Given the description of an element on the screen output the (x, y) to click on. 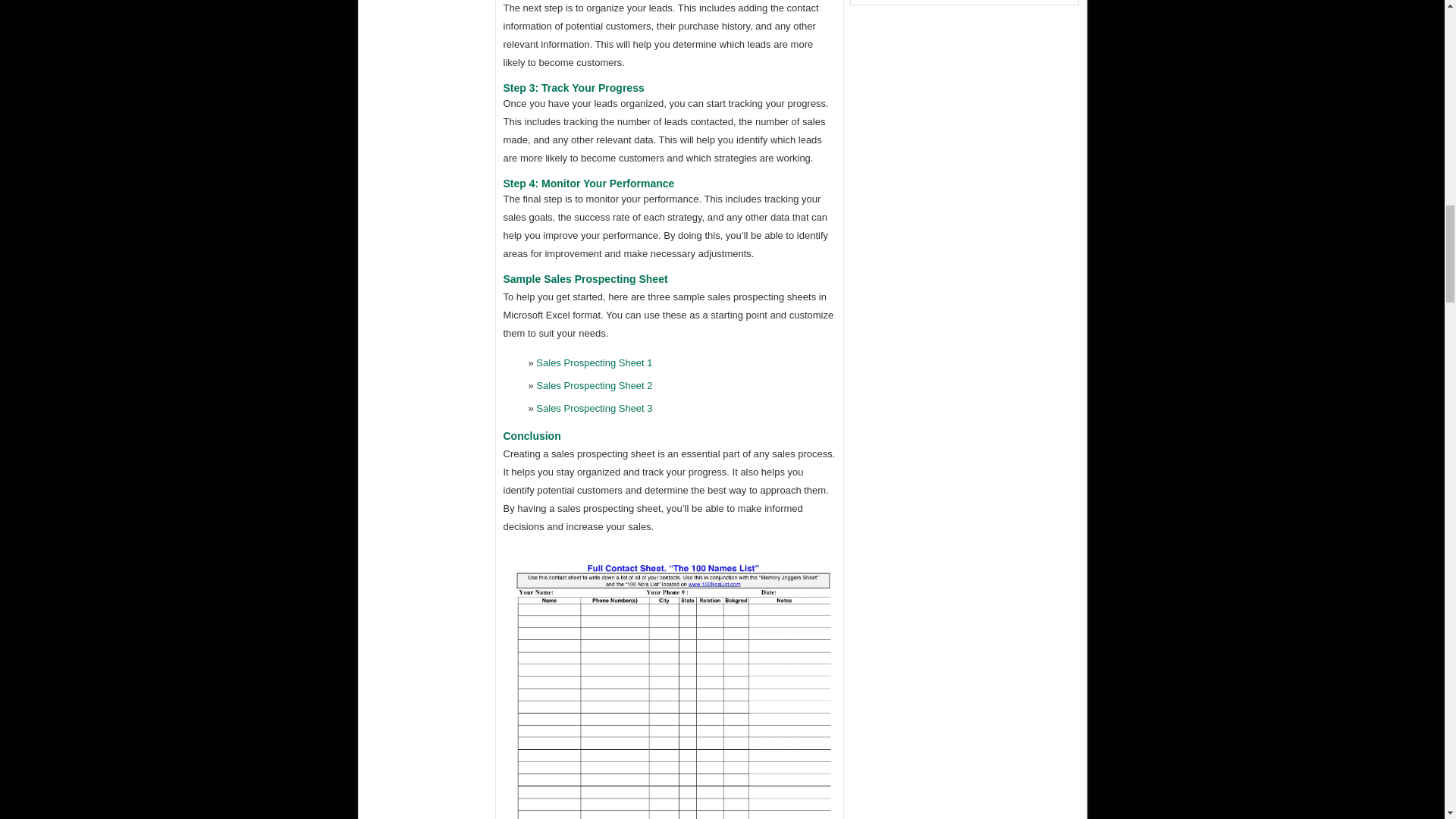
Sales Prospecting Sheet 1 (593, 362)
Sales Prospecting Sheet 3 (593, 408)
Sales Prospecting Sheet 2 (593, 385)
